Given the description of an element on the screen output the (x, y) to click on. 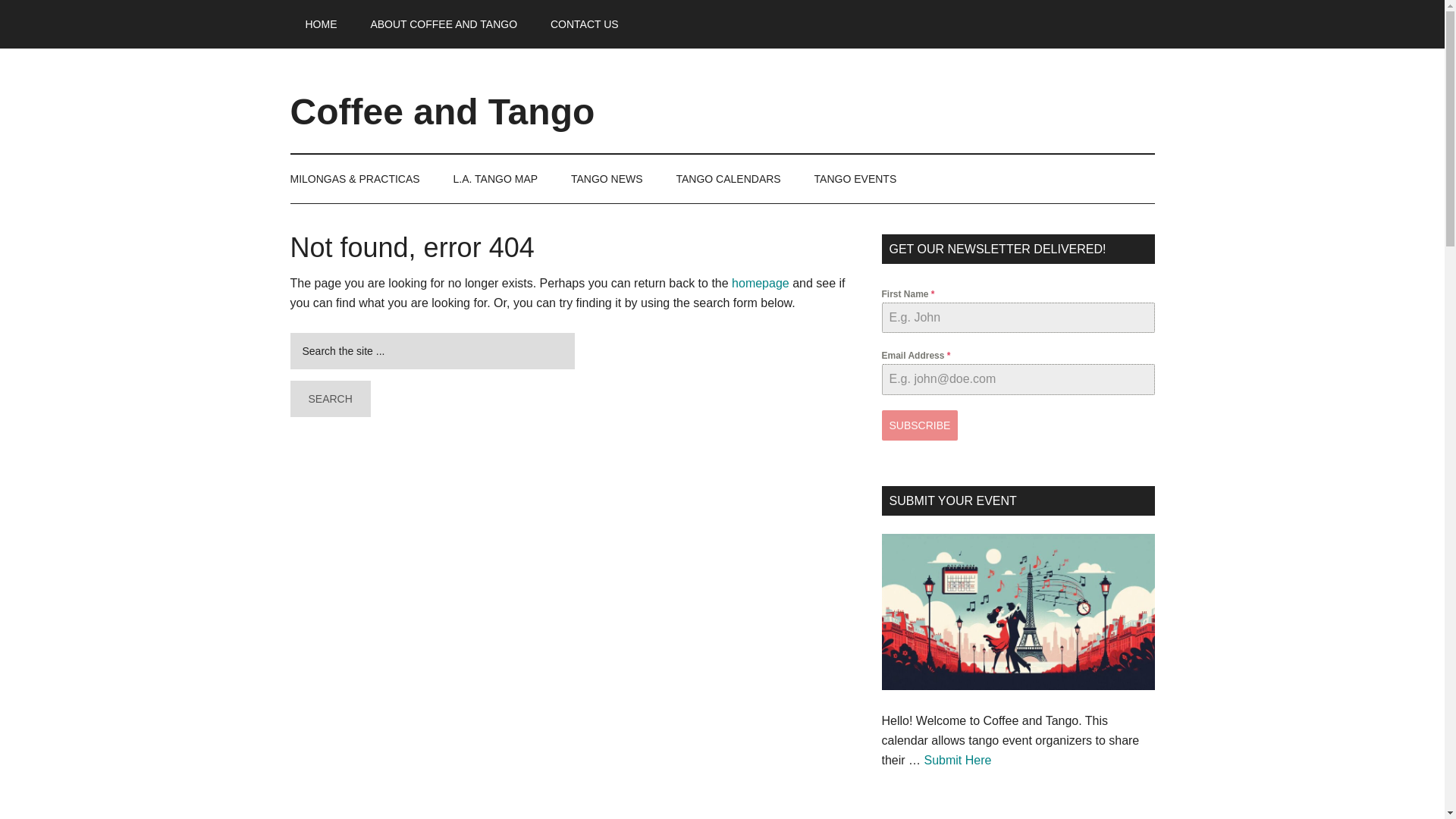
Search (329, 398)
Coffee and Tango (441, 111)
TANGO EVENTS (855, 178)
Search (329, 398)
View all places in Map (495, 178)
Search (329, 398)
TANGO NEWS (607, 178)
ABOUT COFFEE AND TANGO (443, 24)
homepage (760, 282)
CONTACT US (584, 24)
TANGO CALENDARS (727, 178)
HOME (320, 24)
SUBSCRIBE (919, 425)
L.A. TANGO MAP (495, 178)
